Given the description of an element on the screen output the (x, y) to click on. 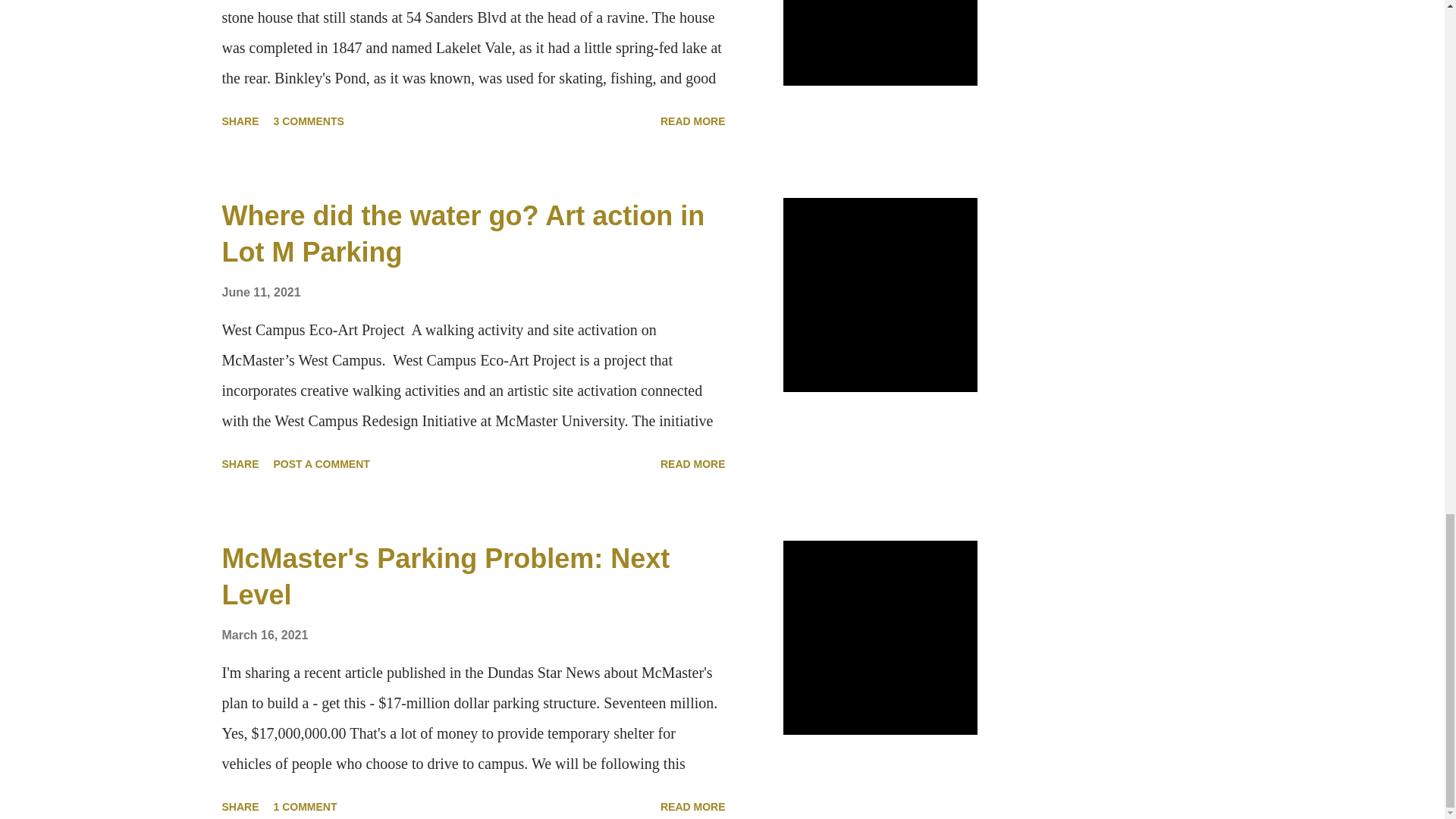
POST A COMMENT (321, 463)
Where did the water go? Art action in Lot M Parking (462, 233)
McMaster's Parking Problem: Next Level (445, 576)
READ MORE (692, 463)
READ MORE (692, 120)
SHARE (239, 120)
SHARE (239, 463)
June 11, 2021 (260, 291)
March 16, 2021 (264, 634)
3 COMMENTS (308, 120)
